Given the description of an element on the screen output the (x, y) to click on. 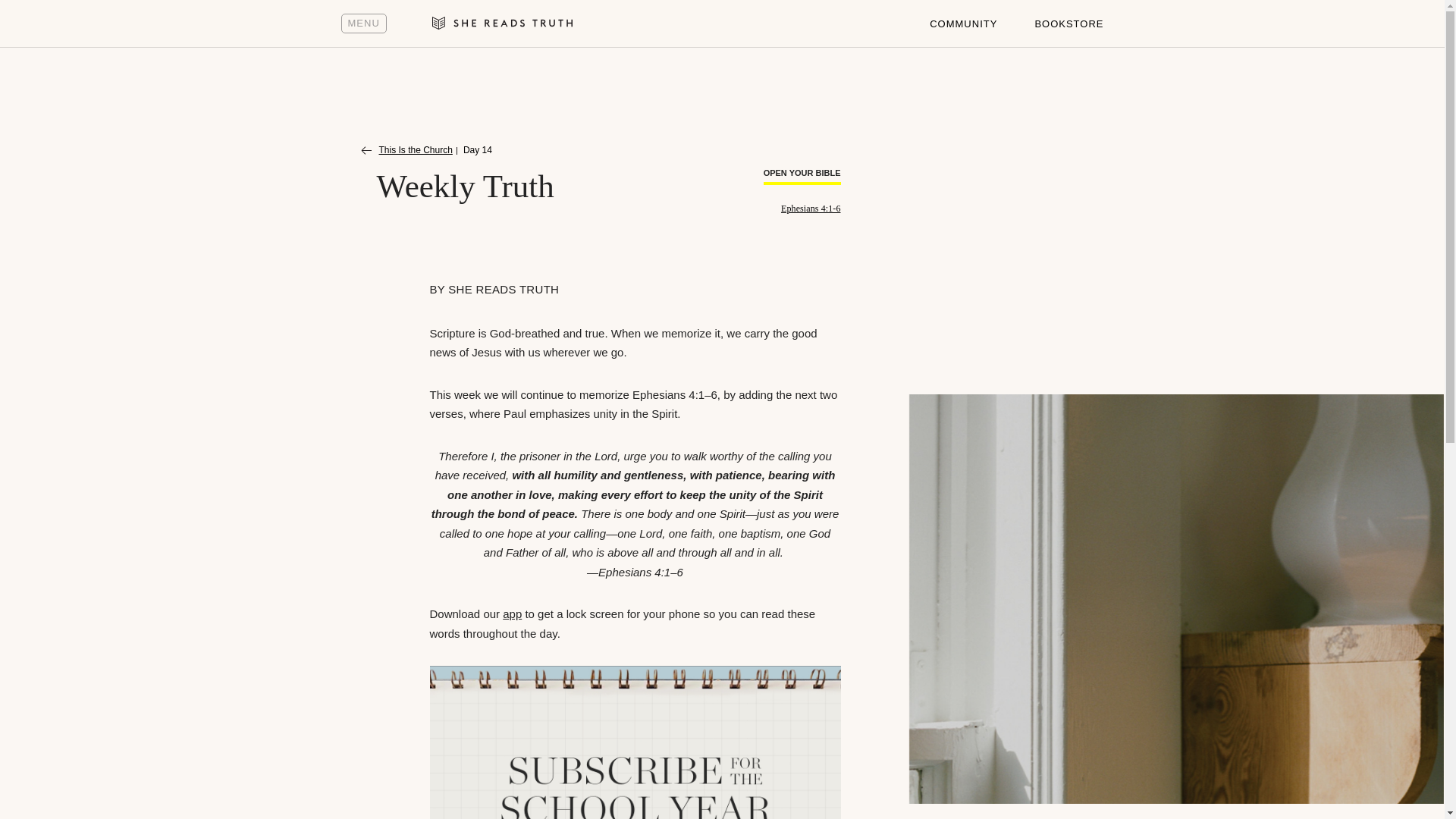
SHE READS TRUTH (503, 288)
BOOKSTORE (1068, 24)
MENU (363, 23)
app (511, 613)
COMMUNITY (963, 24)
This Is the Church (406, 150)
